Given the description of an element on the screen output the (x, y) to click on. 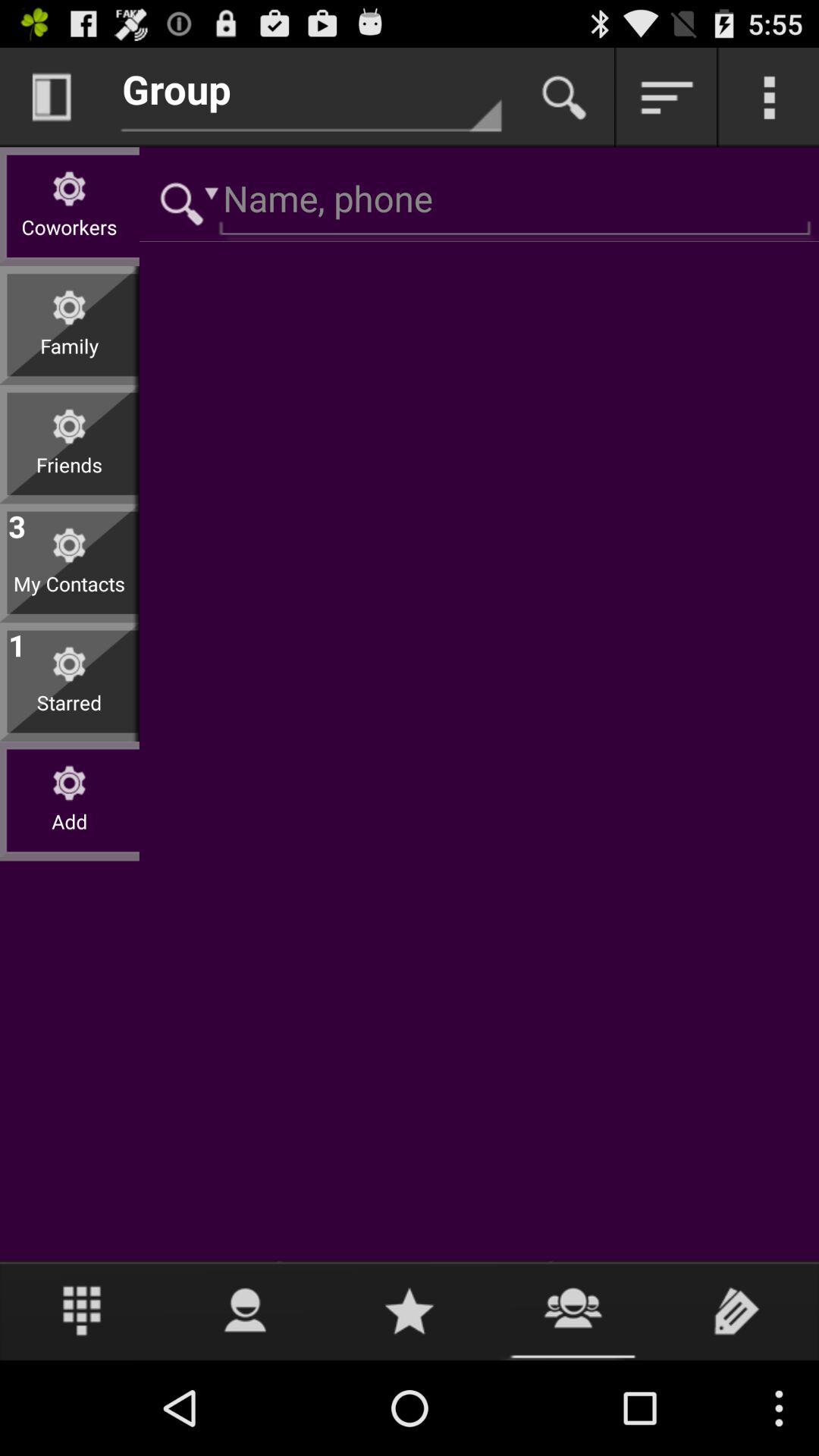
scroll to the family (69, 357)
